Given the description of an element on the screen output the (x, y) to click on. 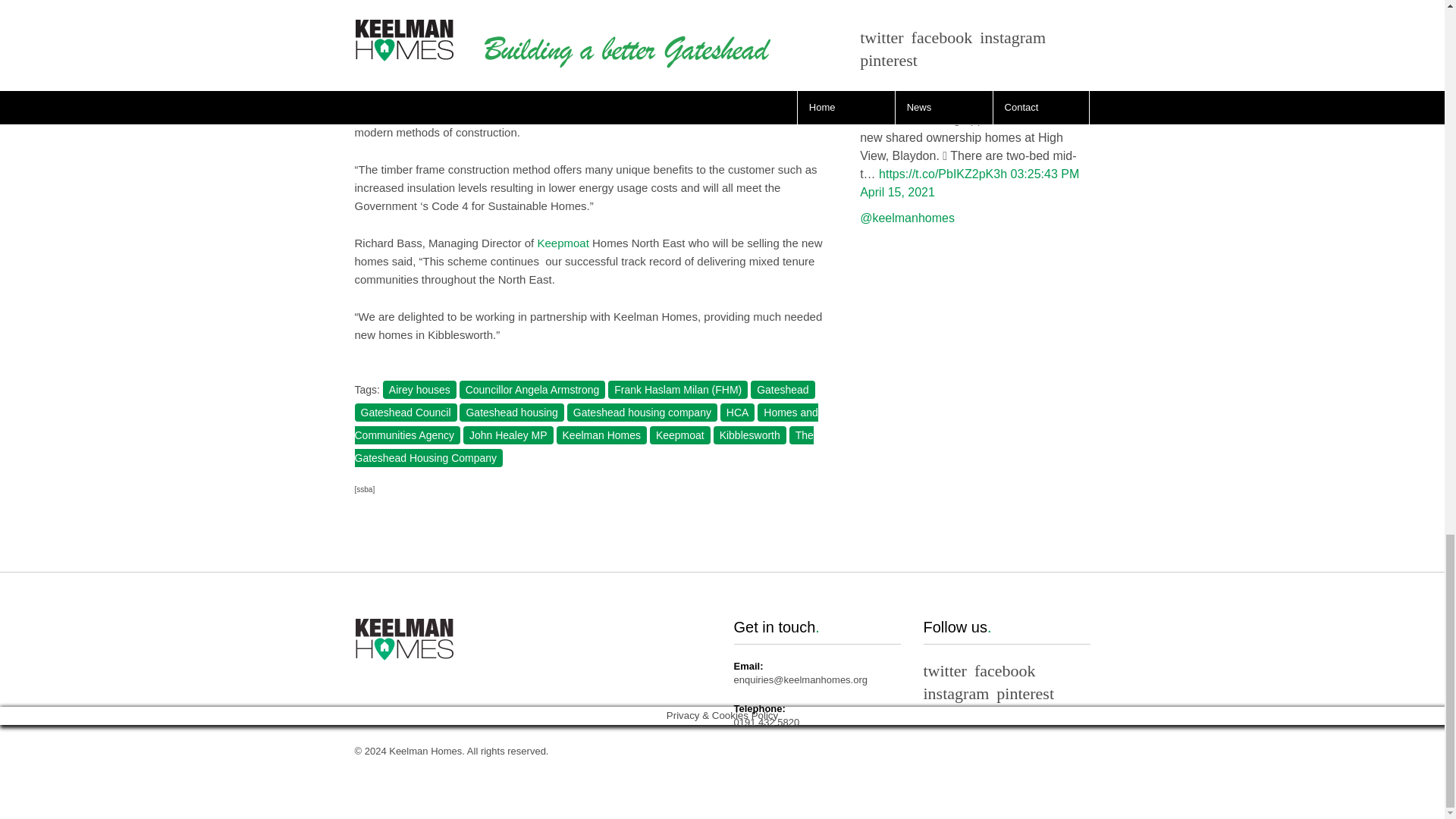
The Gateshead Housing Company (584, 445)
Keepmoat (529, 40)
Homes and Communities Agency (586, 423)
Gateshead housing company (642, 412)
Keepmoat (679, 434)
Gateshead Council (406, 412)
Keelman Homes (601, 434)
Gateshead housing (511, 412)
John Healey MP (508, 434)
Kibblesworth (749, 434)
Airey houses (419, 389)
Keepmoat (529, 40)
Keepmoat (562, 242)
Keepmoat (562, 242)
HCA (737, 412)
